Given the description of an element on the screen output the (x, y) to click on. 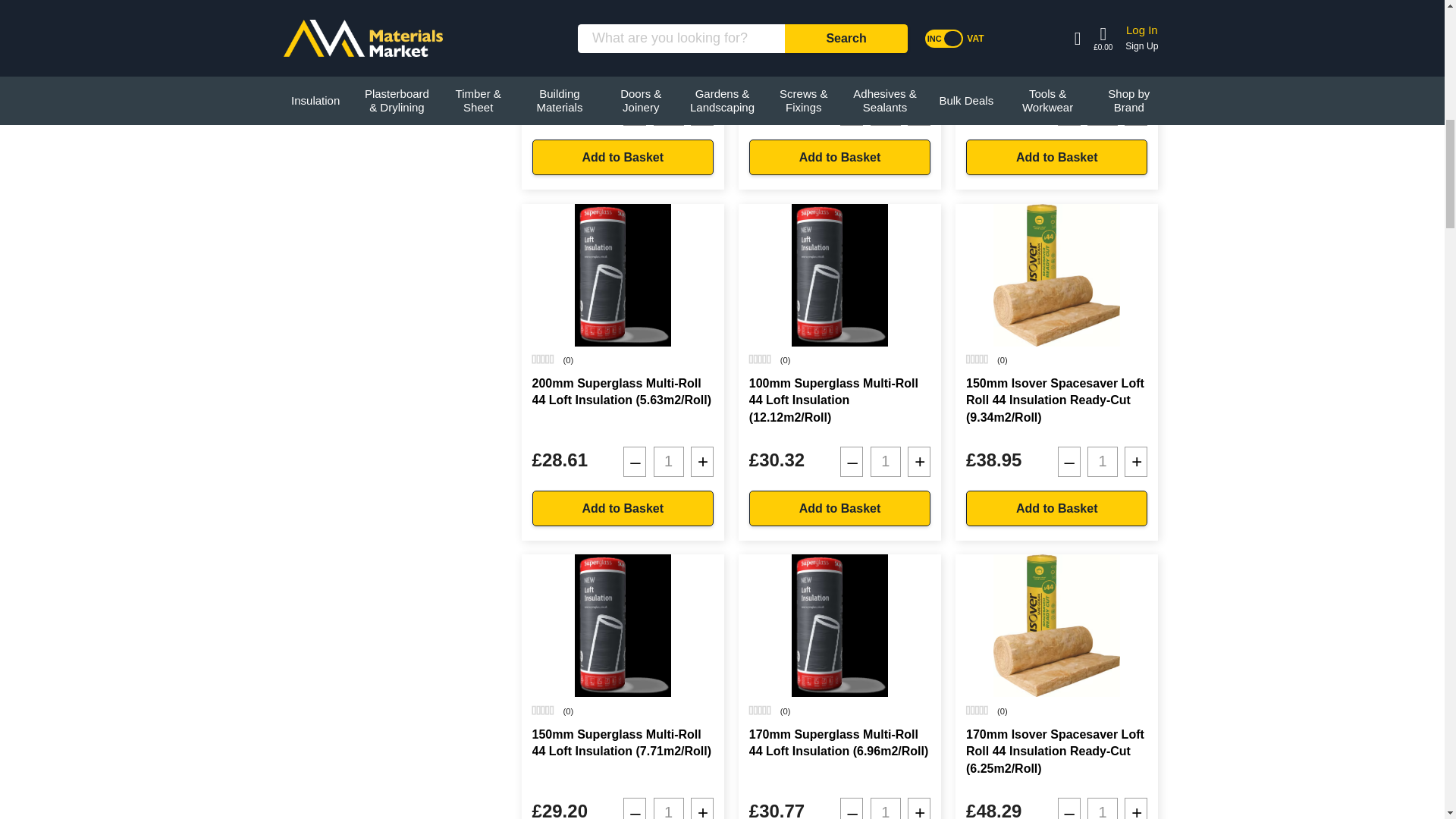
Add to Basket (839, 157)
1 (885, 461)
1 (668, 461)
Rating of this product is 0 out of 5. (977, 8)
Rating of this product is 0 out of 5. (760, 8)
Qty (668, 808)
Add to Basket (839, 508)
Qty (885, 110)
1 (668, 110)
Qty (1102, 461)
